Given the description of an element on the screen output the (x, y) to click on. 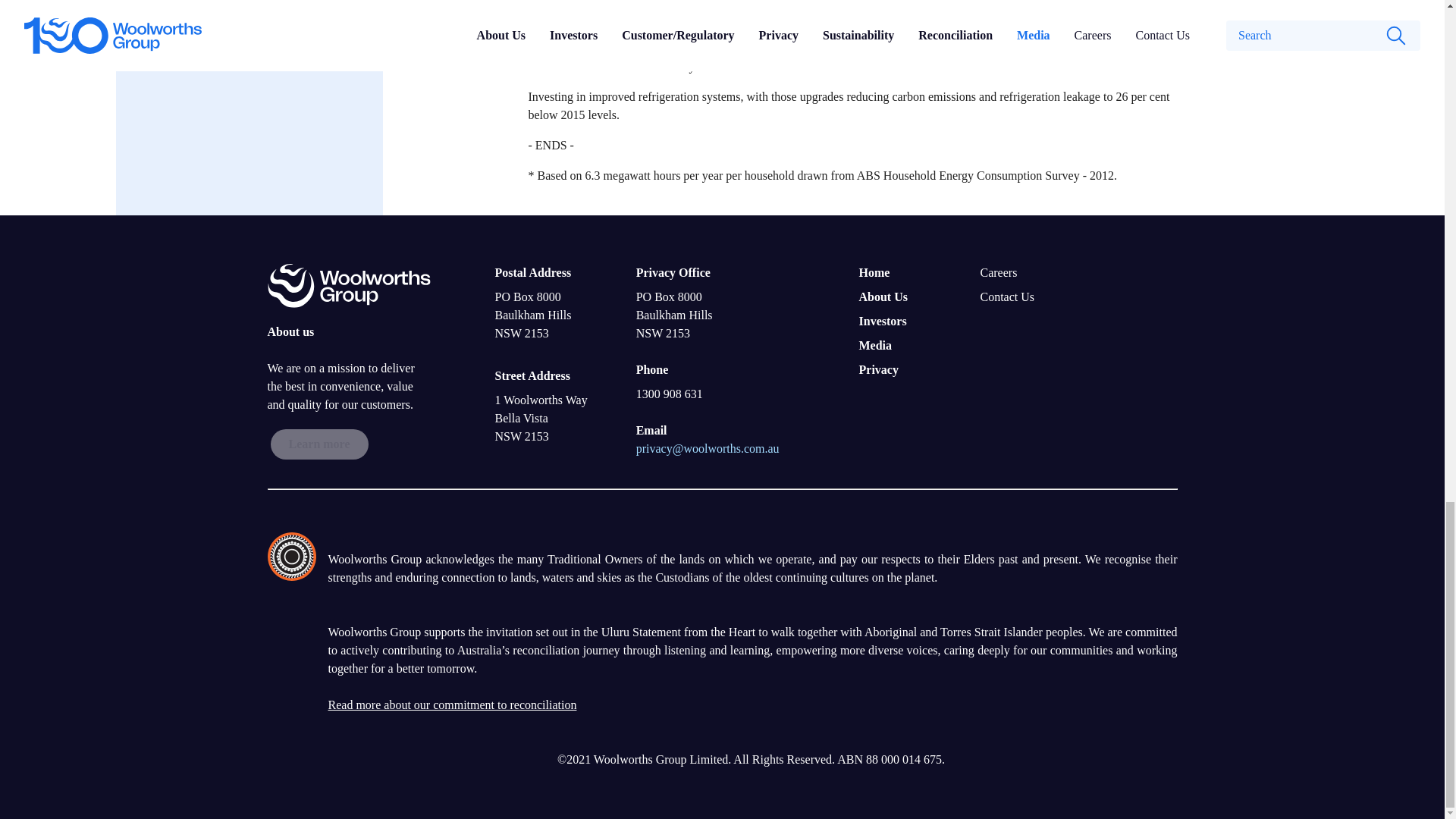
Reconciliation at Woolworths (452, 704)
Learn more (318, 444)
